Given the description of an element on the screen output the (x, y) to click on. 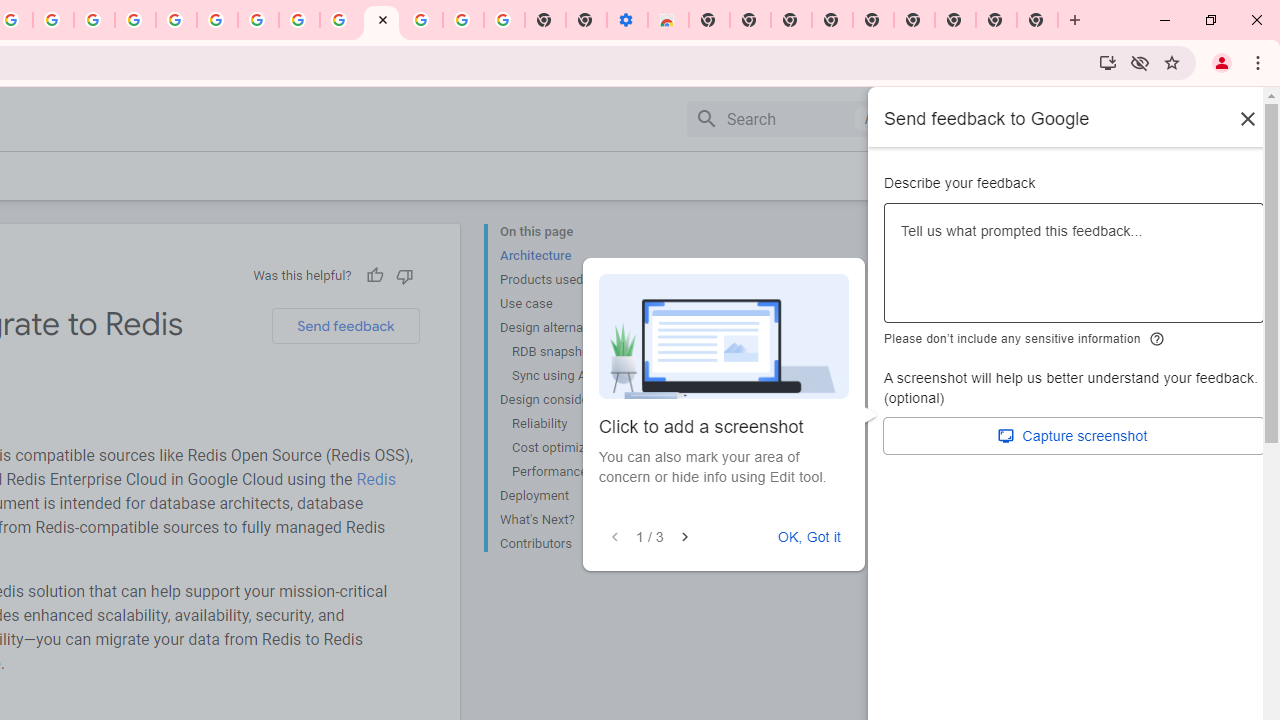
Describe your feedback (1074, 271)
Turn cookies on or off - Computer - Google Account Help (503, 20)
Reliability (585, 423)
Send feedback (345, 326)
Design alternatives (580, 327)
Chrome Web Store - Accessibility extensions (667, 20)
Ad Settings (135, 20)
Deployment (580, 495)
OK, Got it (809, 537)
New Tab (708, 20)
Previous (614, 537)
New Tab (955, 20)
